Given the description of an element on the screen output the (x, y) to click on. 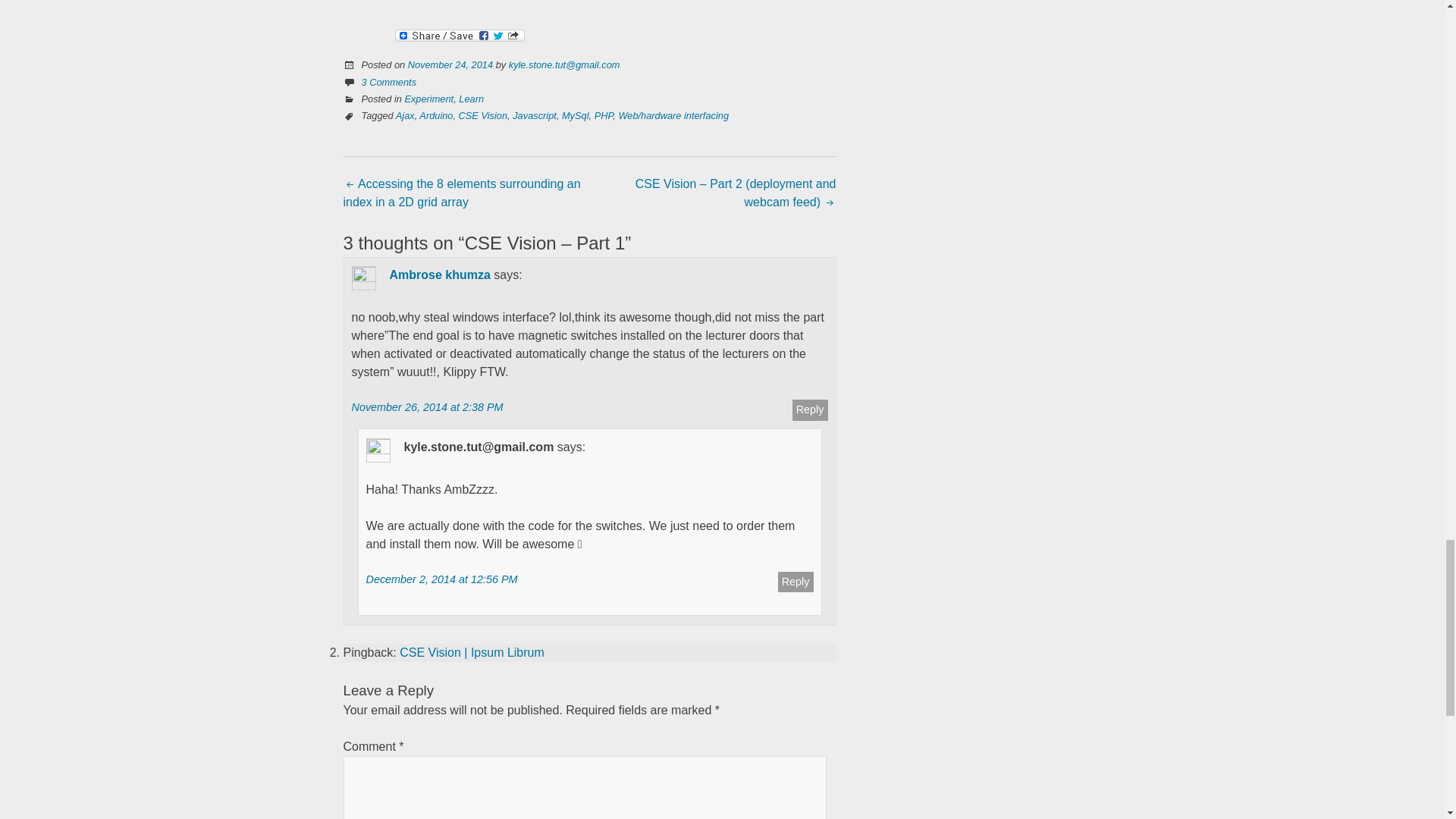
November 26, 2014 at 2:38 PM (427, 407)
Reply (810, 409)
Advertisement (492, 4)
CSE Vision (483, 115)
Ajax (405, 115)
Learn (470, 98)
Experiment (428, 98)
Ambrose khumza (440, 274)
December 2, 2014 at 12:56 PM (440, 579)
